Given the description of an element on the screen output the (x, y) to click on. 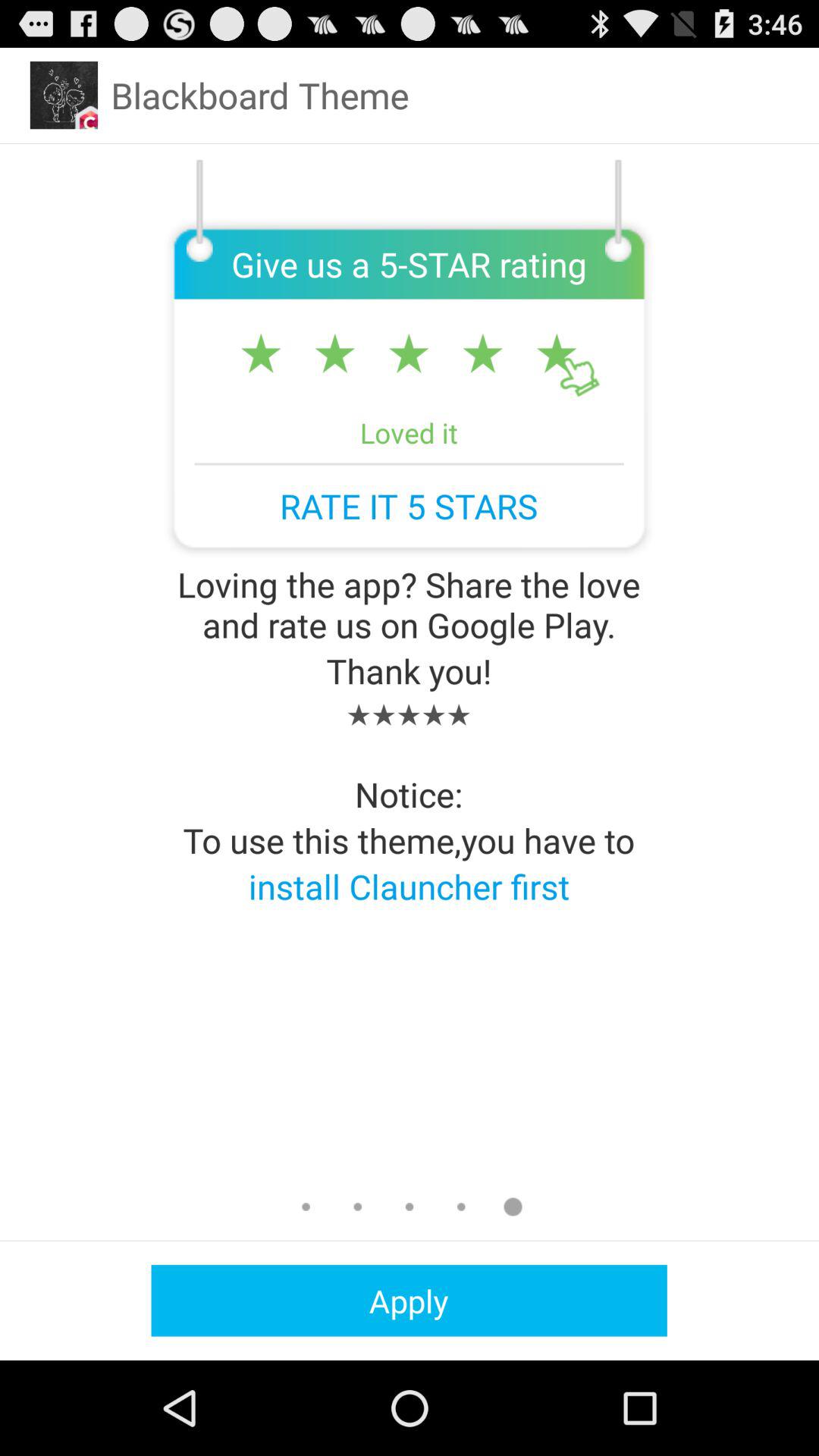
click the install clauncher frist (409, 885)
